Given the description of an element on the screen output the (x, y) to click on. 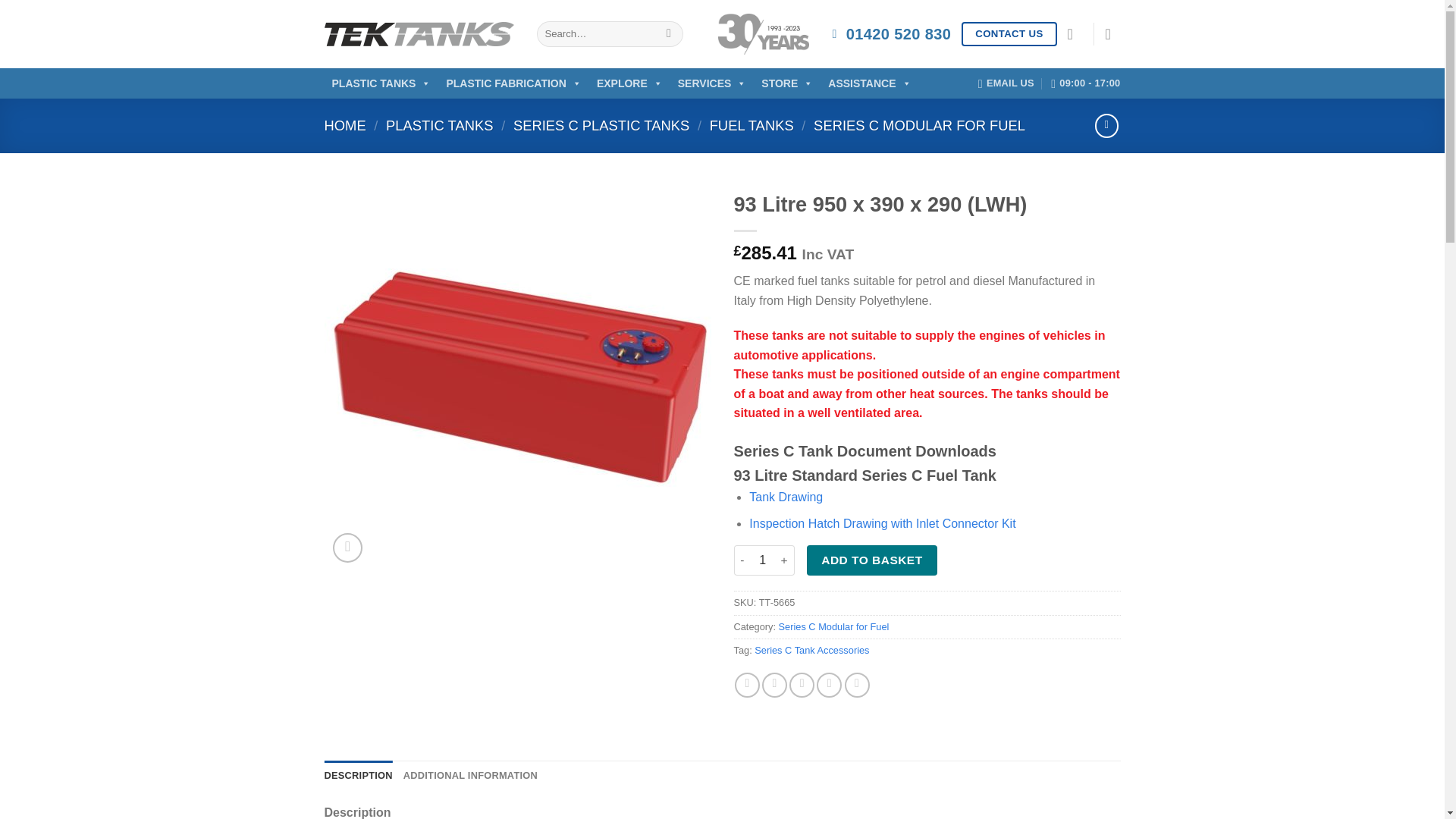
Share on LinkedIn (856, 684)
Tek-Tanks (418, 34)
  01420 520 830 (892, 33)
Share on Facebook (747, 684)
Share on Twitter (774, 684)
Email to a Friend (801, 684)
09:00 - 17:00  (1085, 82)
Zoom (347, 547)
PLASTIC FABRICATION (513, 82)
CONTACT US (1008, 34)
